Given the description of an element on the screen output the (x, y) to click on. 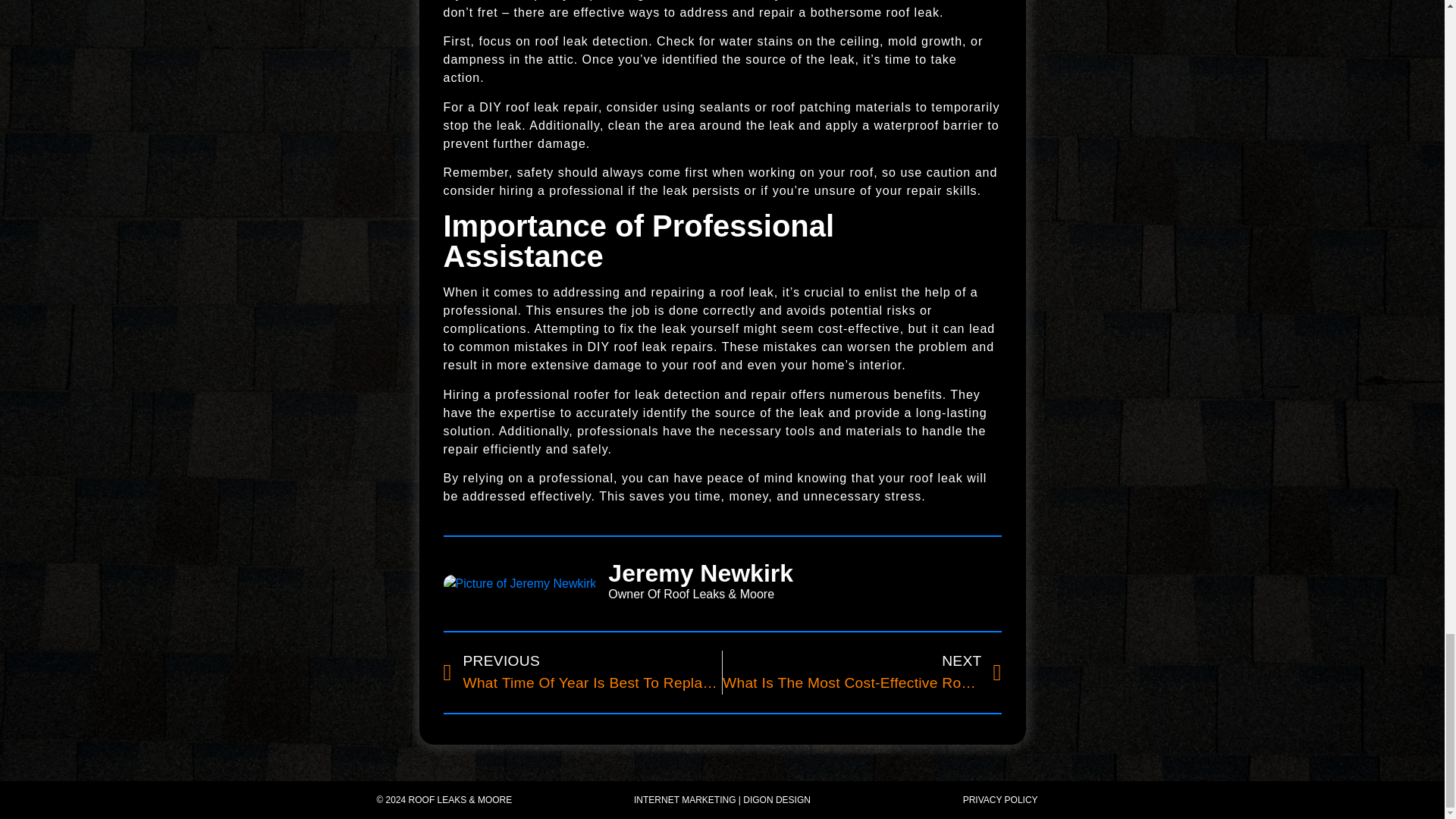
Jeremy Newkirk (804, 573)
PRIVACY POLICY (582, 672)
